Given the description of an element on the screen output the (x, y) to click on. 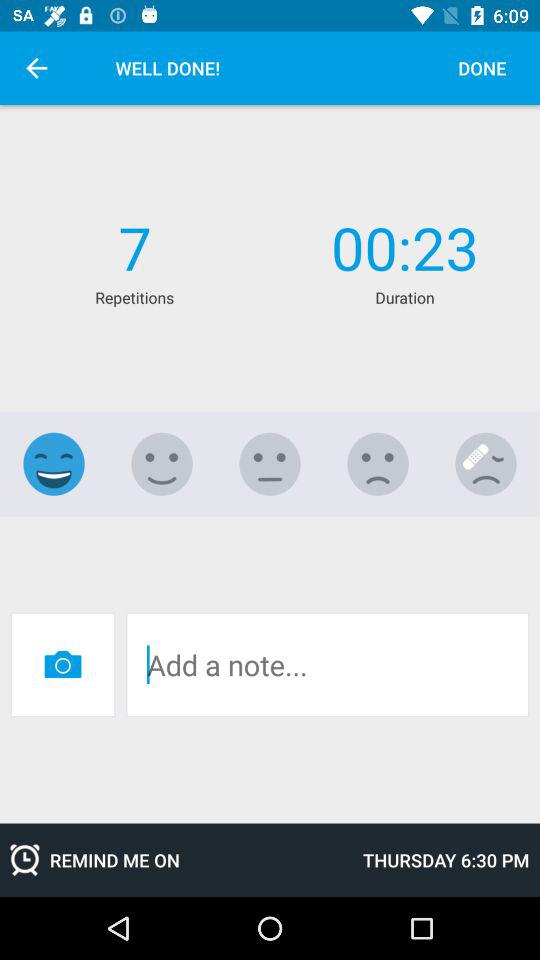
choose item next to the thursday 6 30 (176, 859)
